Given the description of an element on the screen output the (x, y) to click on. 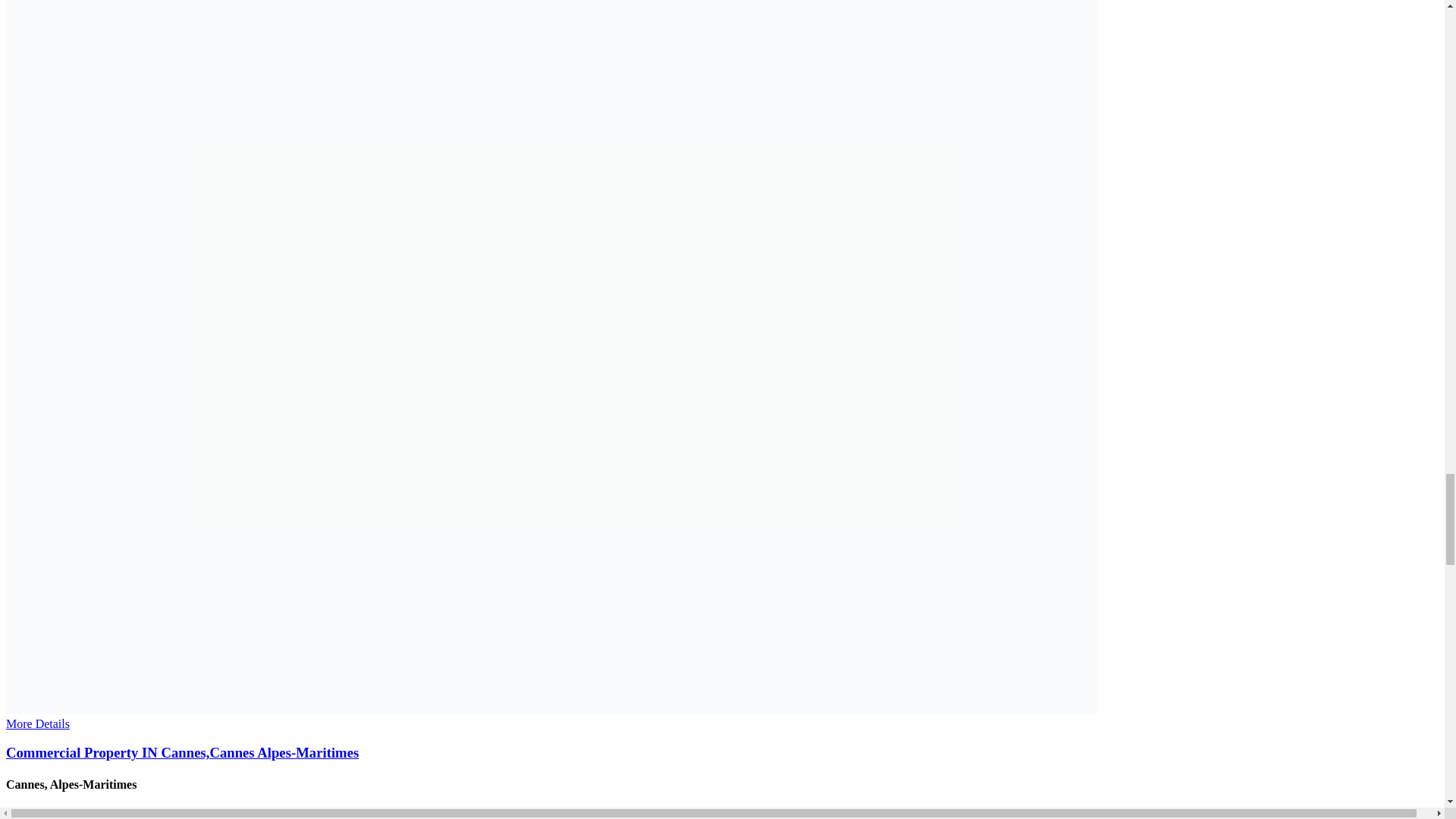
COMMERCIAL PROPERTY IN CANNES,CANNES ALPES-MARITIMES (721, 752)
